Given the description of an element on the screen output the (x, y) to click on. 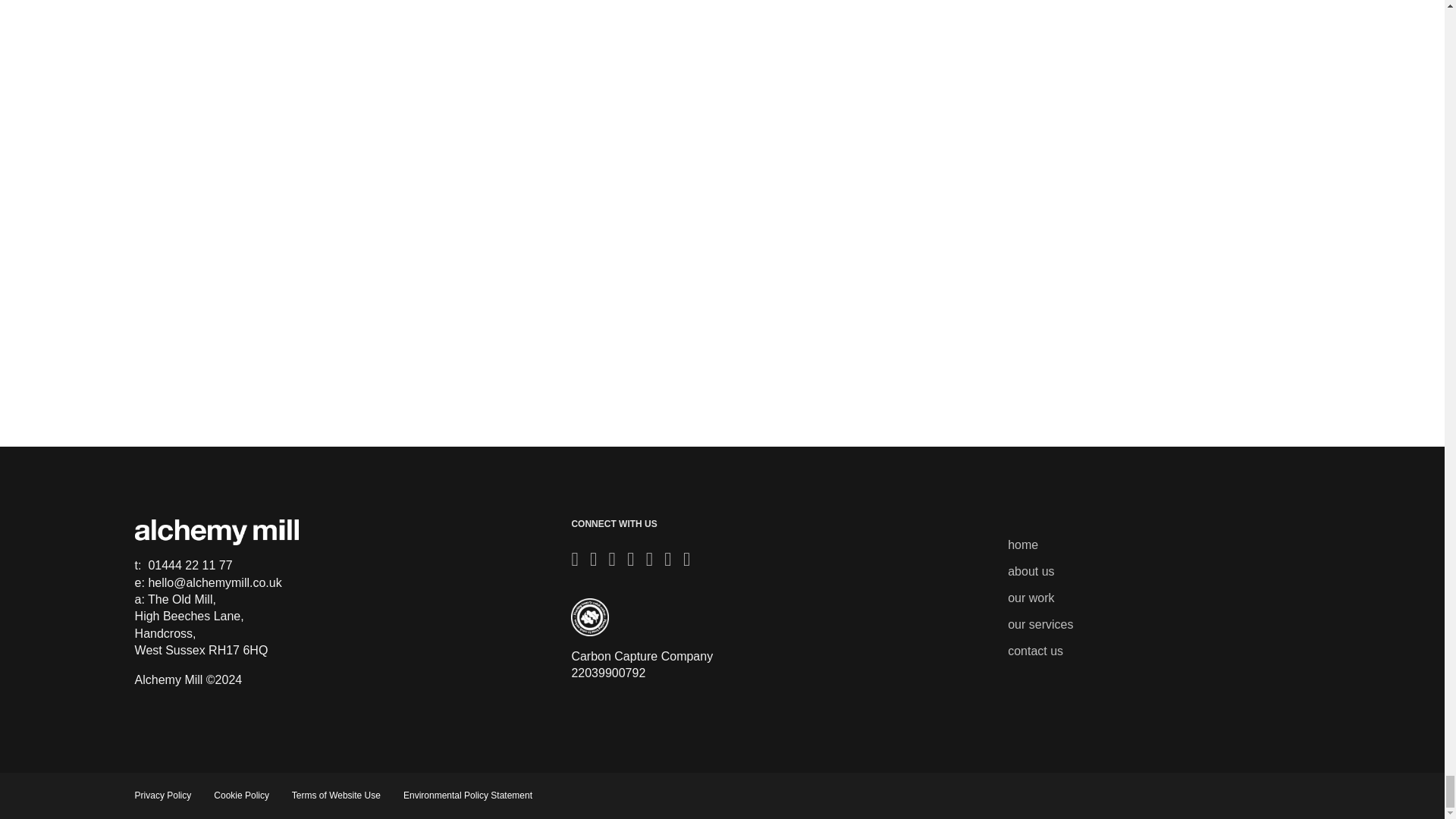
Privacy Policy (164, 795)
contact us (1034, 650)
about us (1030, 571)
Cookie Policy (242, 795)
home (1022, 544)
our work (1030, 597)
Environmental Policy Statement (467, 795)
Terms of Website Use (337, 795)
our services (1040, 624)
